Given the description of an element on the screen output the (x, y) to click on. 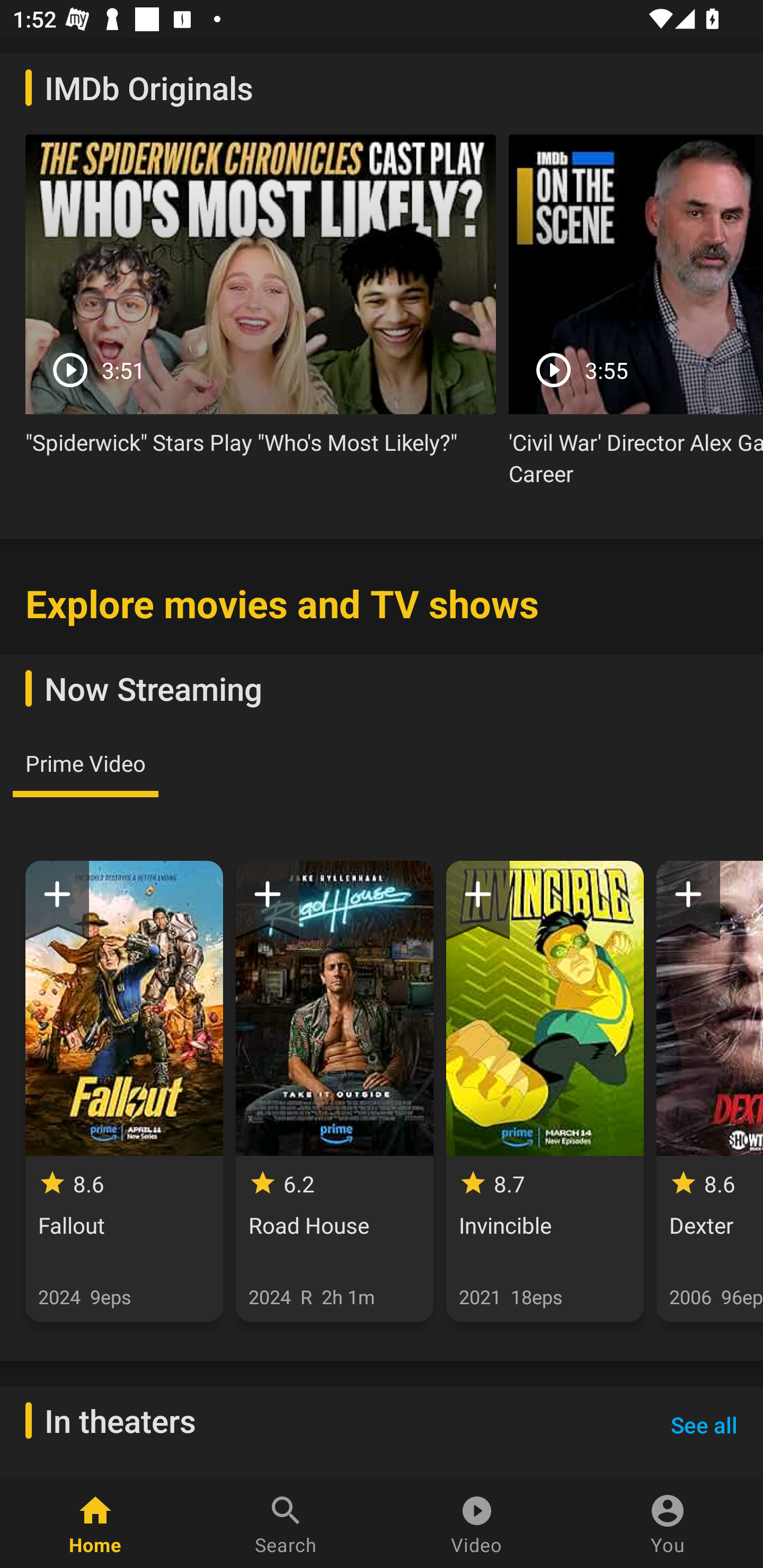
3:51 "Spiderwick" Stars Play "Who's Most Likely?" (260, 302)
Prime Video (85, 762)
8.6 Fallout 2024  9eps (123, 1090)
6.2 Road House 2024  R  2h 1m (334, 1090)
8.7 Invincible 2021  18eps (544, 1090)
See all See all In theaters (703, 1424)
Search (285, 1523)
Video (476, 1523)
You (667, 1523)
